Given the description of an element on the screen output the (x, y) to click on. 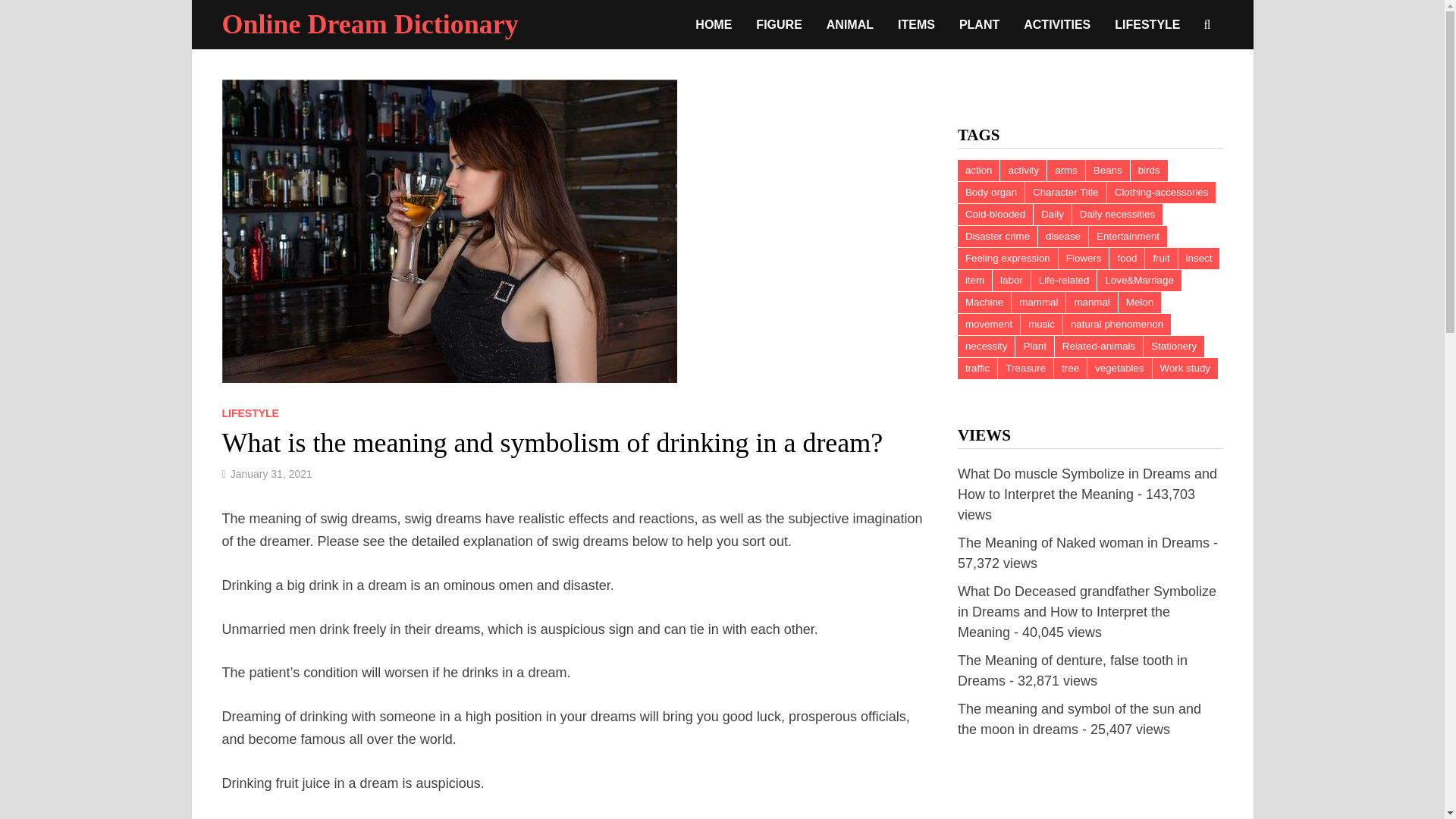
Online Dream Dictionary (369, 24)
The Meaning of denture, false tooth in Dreams (1073, 670)
LIFESTYLE (249, 413)
PLANT (979, 24)
HOME (713, 24)
FIGURE (778, 24)
LIFESTYLE (1147, 24)
The Meaning of Naked woman in Dreams (1083, 542)
The meaning and symbol of the sun and the moon in dreams (1079, 719)
